Given the description of an element on the screen output the (x, y) to click on. 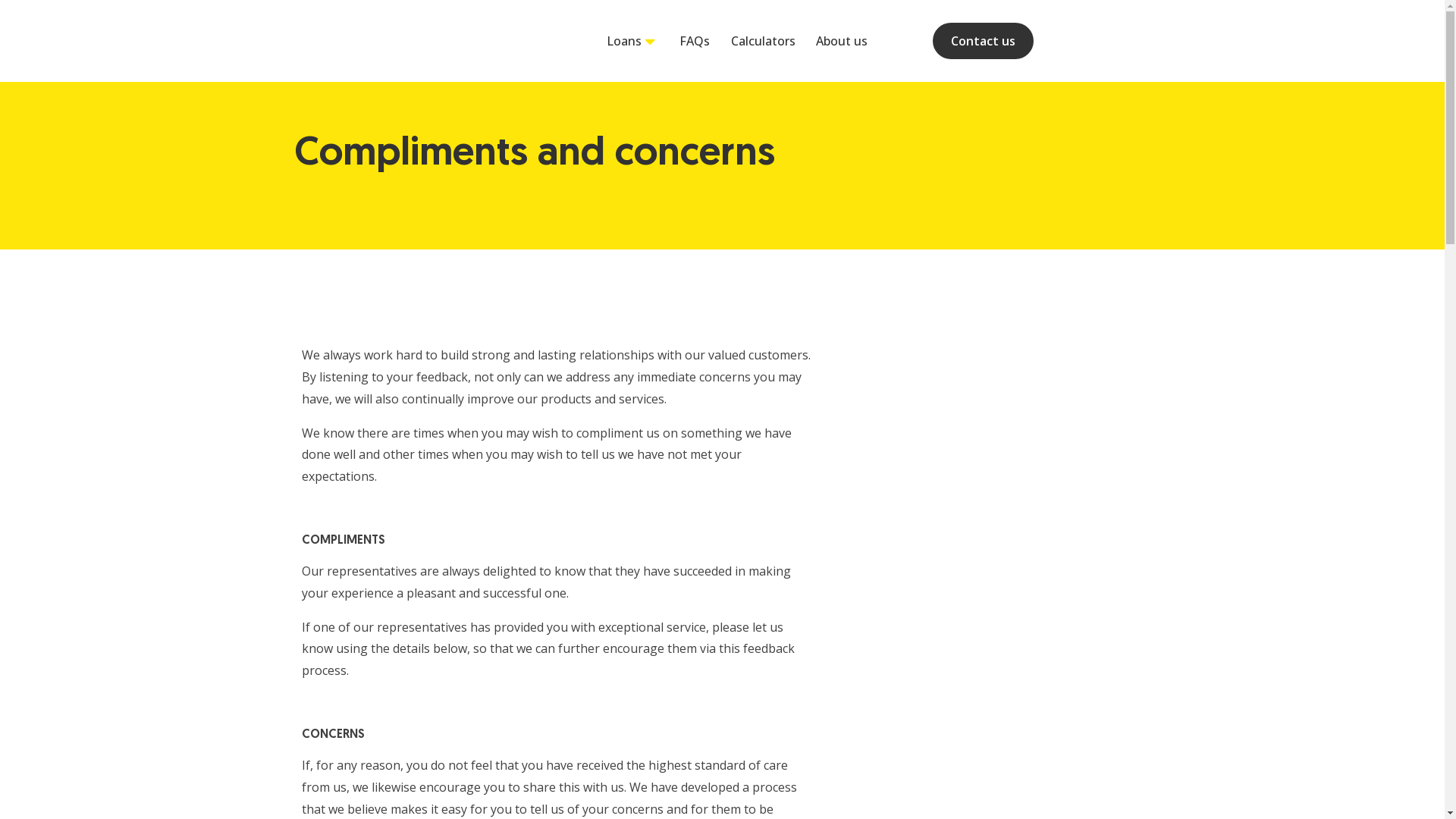
About us Element type: text (833, 41)
FAQs Element type: text (686, 41)
Contact us Element type: text (982, 40)
Calculators Element type: text (754, 41)
Loans Element type: text (623, 40)
